Given the description of an element on the screen output the (x, y) to click on. 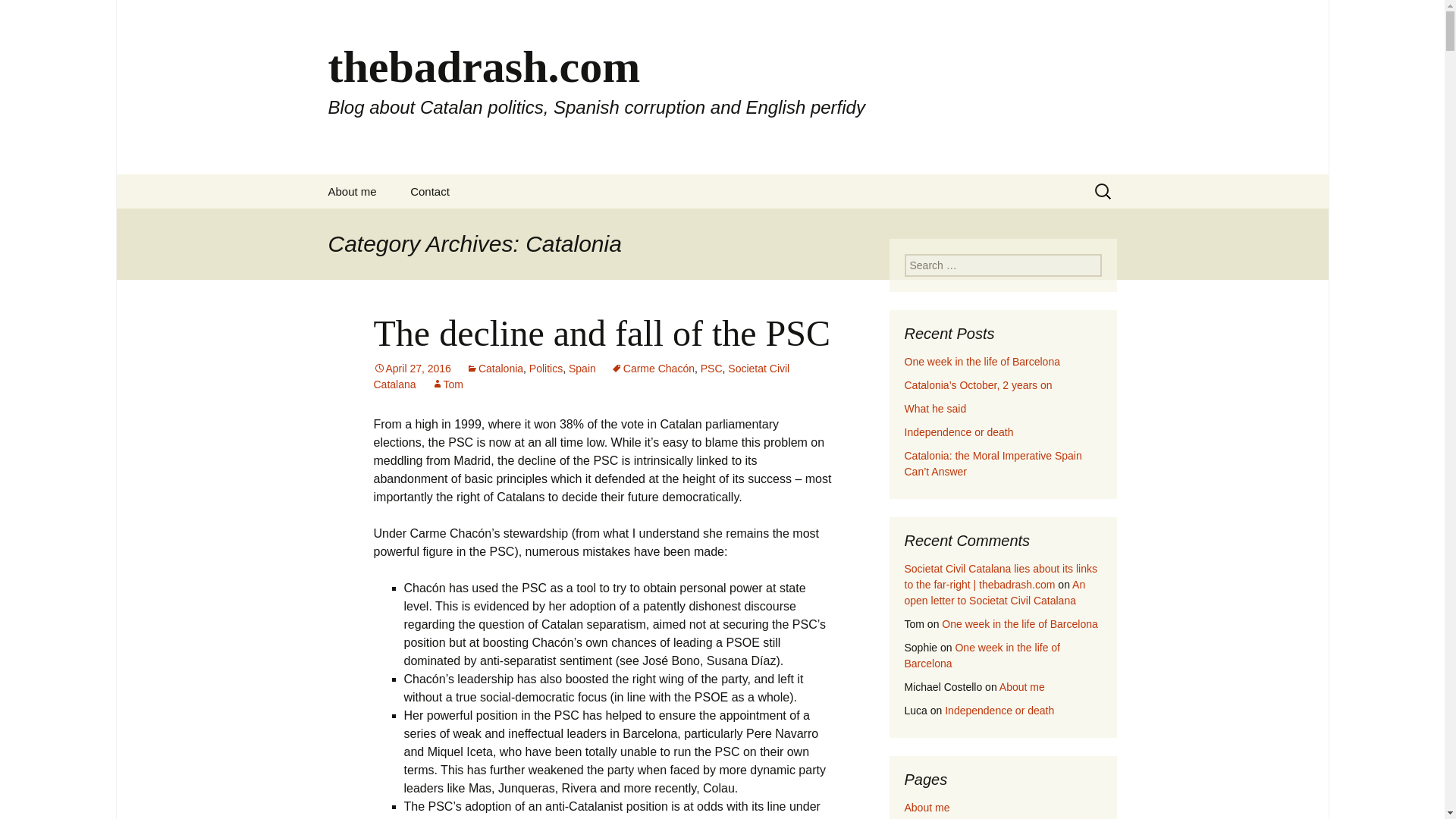
Search (18, 15)
April 27, 2016 (410, 368)
Permalink to The decline and fall of the PSC (410, 368)
comments policy (388, 225)
Tom (446, 384)
Contact (429, 191)
Spain (582, 368)
Politics (545, 368)
About me (352, 191)
Catalonia (493, 368)
Societat Civil Catalana (580, 376)
